Given the description of an element on the screen output the (x, y) to click on. 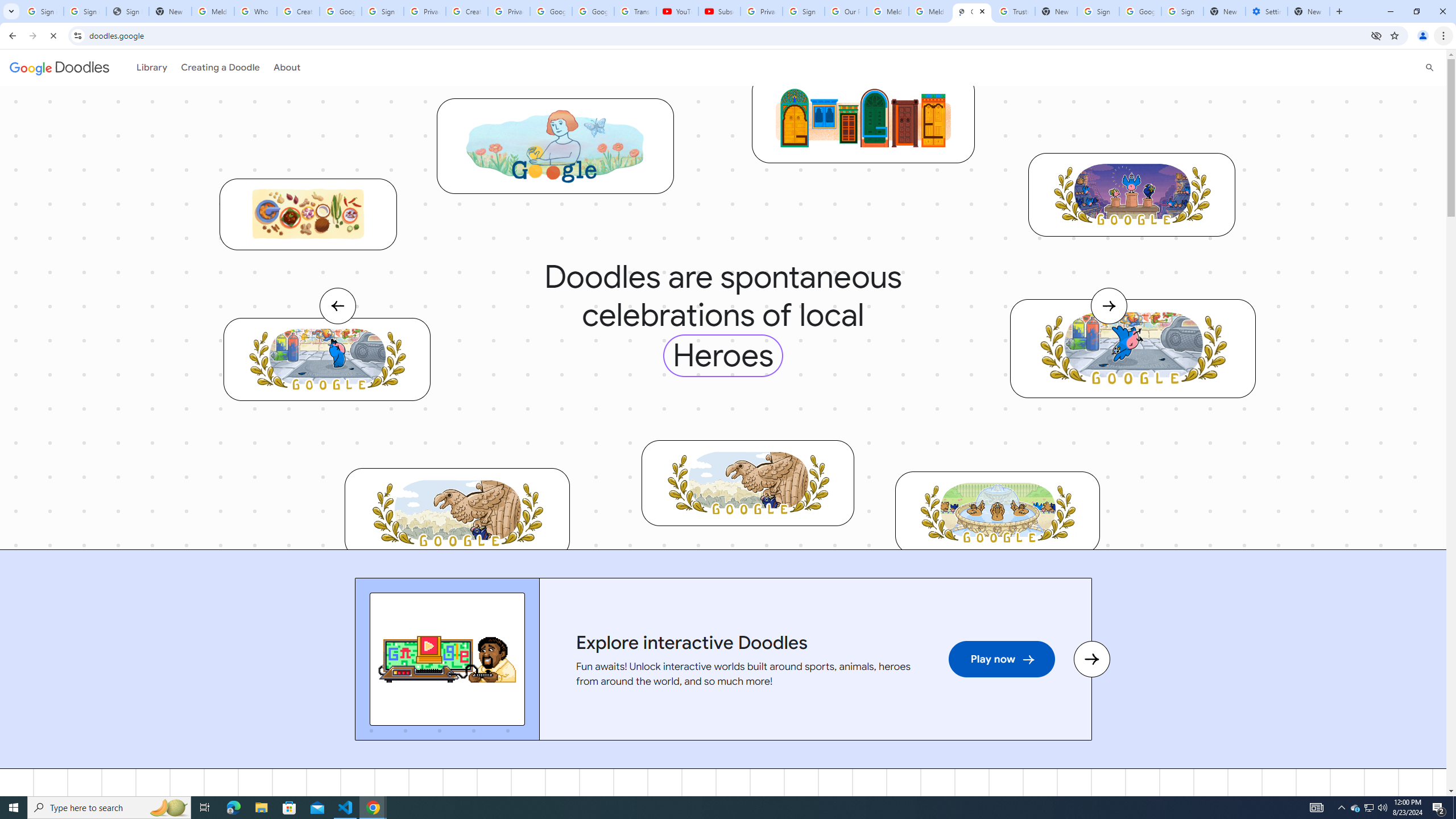
Library (150, 67)
New Tab (1308, 11)
Sign in - Google Accounts (1182, 11)
Sign in - Google Accounts (1097, 11)
Settings - Addresses and more (1266, 11)
